Given the description of an element on the screen output the (x, y) to click on. 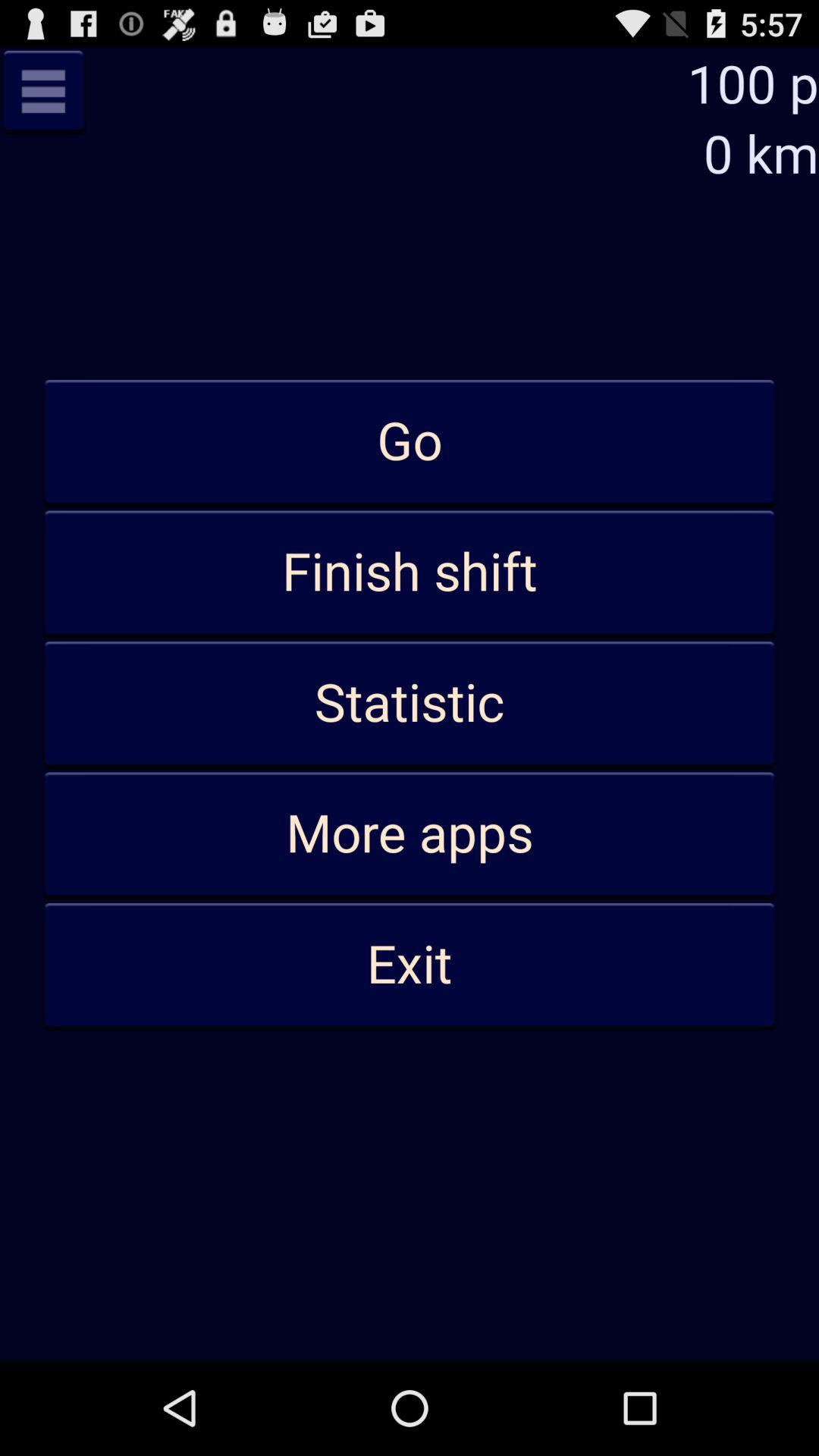
select the go at the top (409, 442)
